Given the description of an element on the screen output the (x, y) to click on. 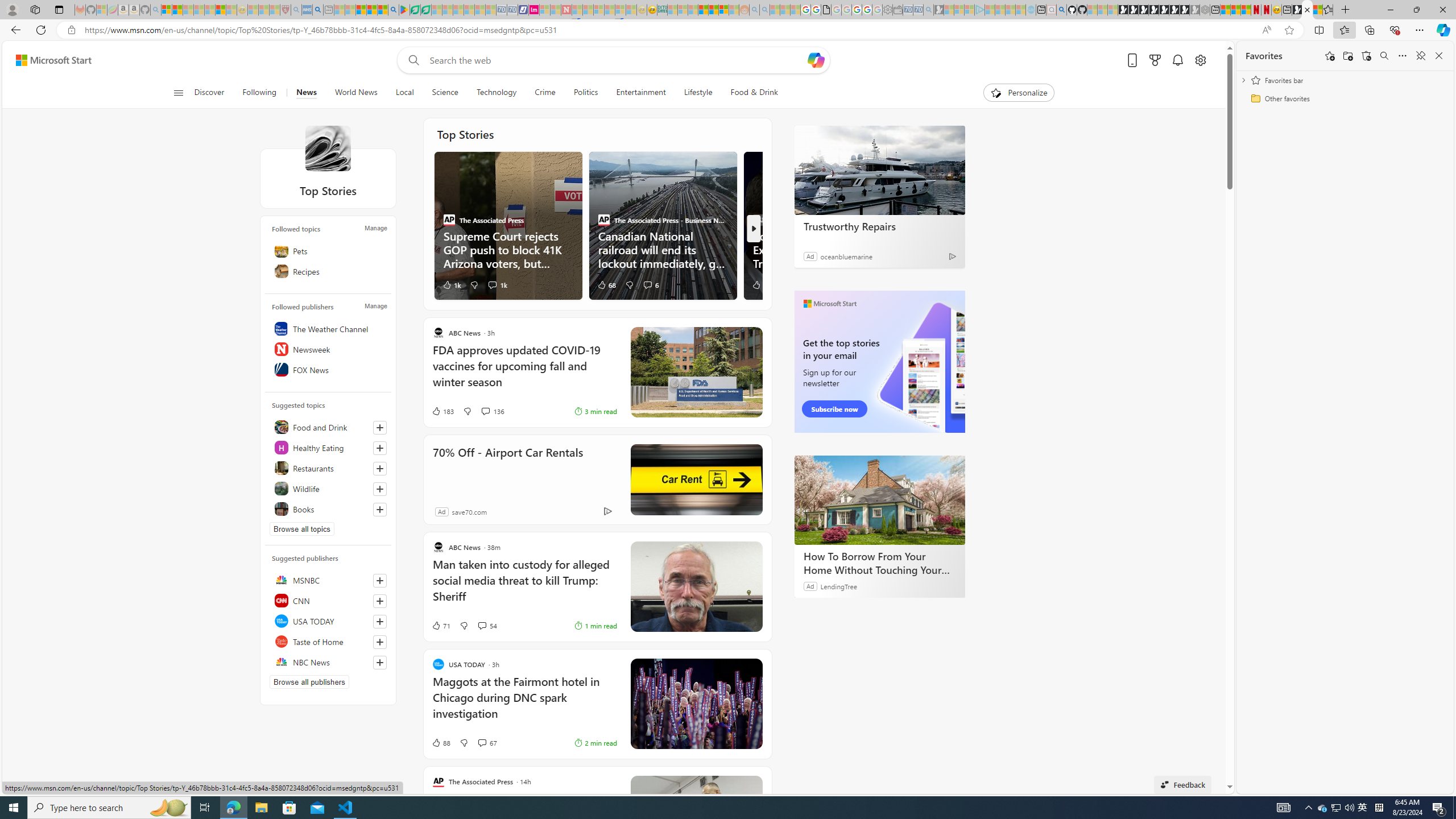
Restaurants (327, 467)
Recipes (327, 270)
Food and Drink (327, 426)
Browse all publishers (309, 681)
71 Like (440, 625)
